Given the description of an element on the screen output the (x, y) to click on. 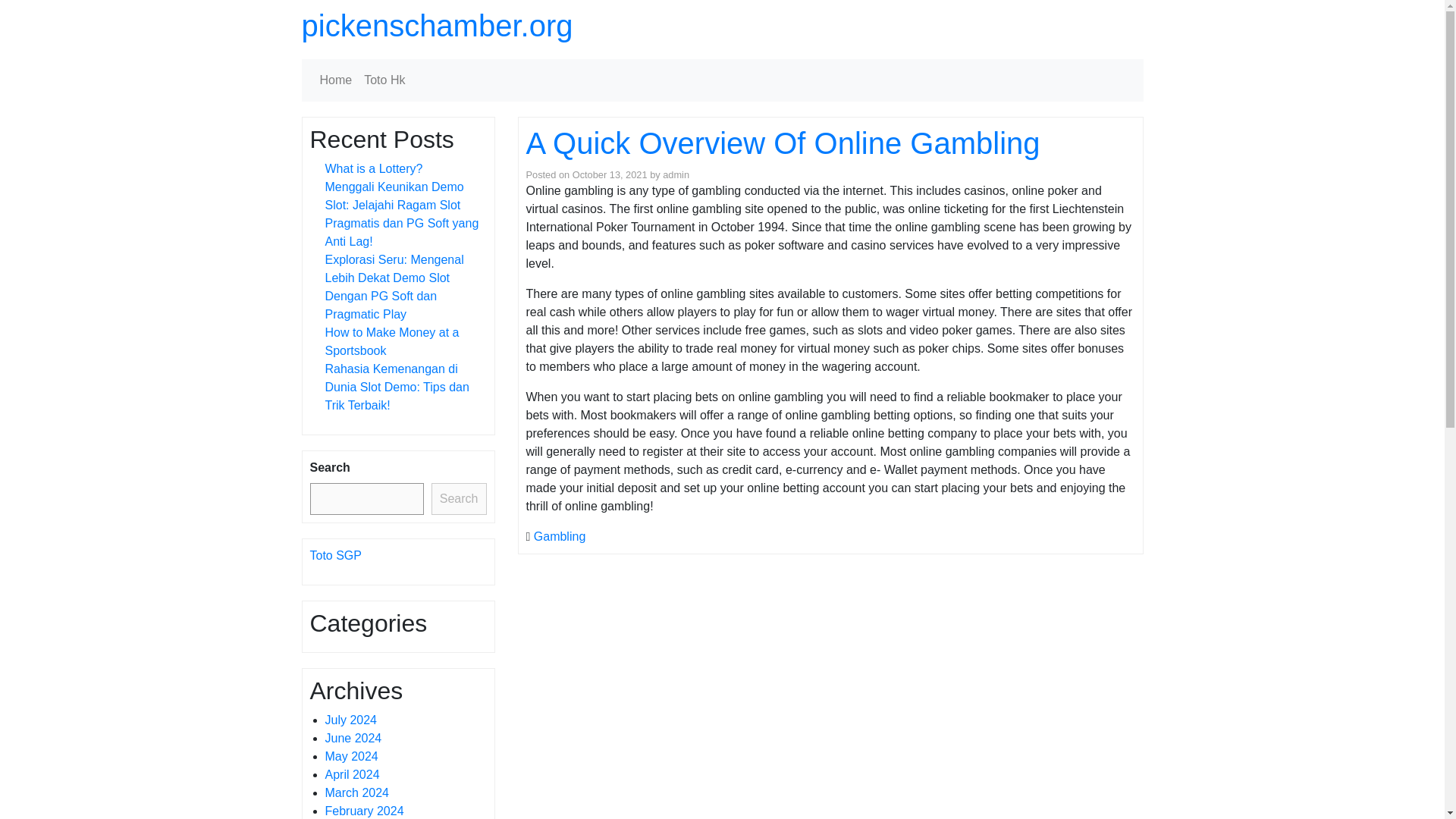
How to Make Money at a Sportsbook (391, 341)
April 2024 (351, 774)
pickenschamber.org (437, 25)
6:58 am (609, 174)
March 2024 (356, 792)
May 2024 (350, 756)
July 2024 (350, 719)
June 2024 (352, 738)
Search (458, 499)
Toto Hk (384, 80)
Toto SGP (334, 554)
Home (336, 80)
